Given the description of an element on the screen output the (x, y) to click on. 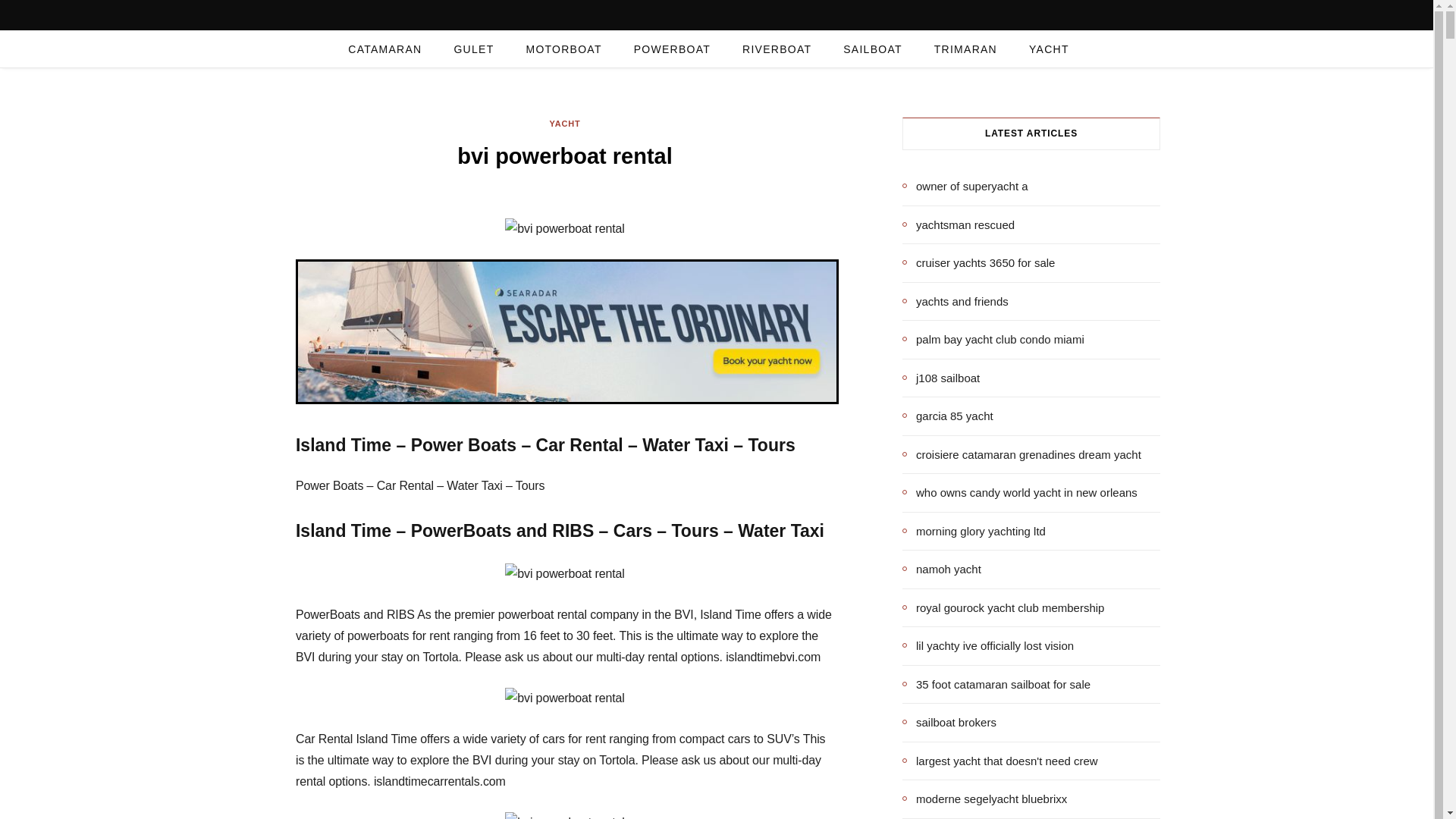
j108 sailboat (940, 378)
royal gourock yacht club membership (1002, 607)
YACHT (1048, 48)
who owns candy world yacht in new orleans (1019, 492)
lil yachty ive officially lost vision (988, 646)
cruiser yachts 3650 for sale (978, 262)
palm bay yacht club condo miami (993, 339)
namoh yacht (941, 569)
yachts and friends (955, 301)
croisiere catamaran grenadines dream yacht (1021, 454)
